Given the description of an element on the screen output the (x, y) to click on. 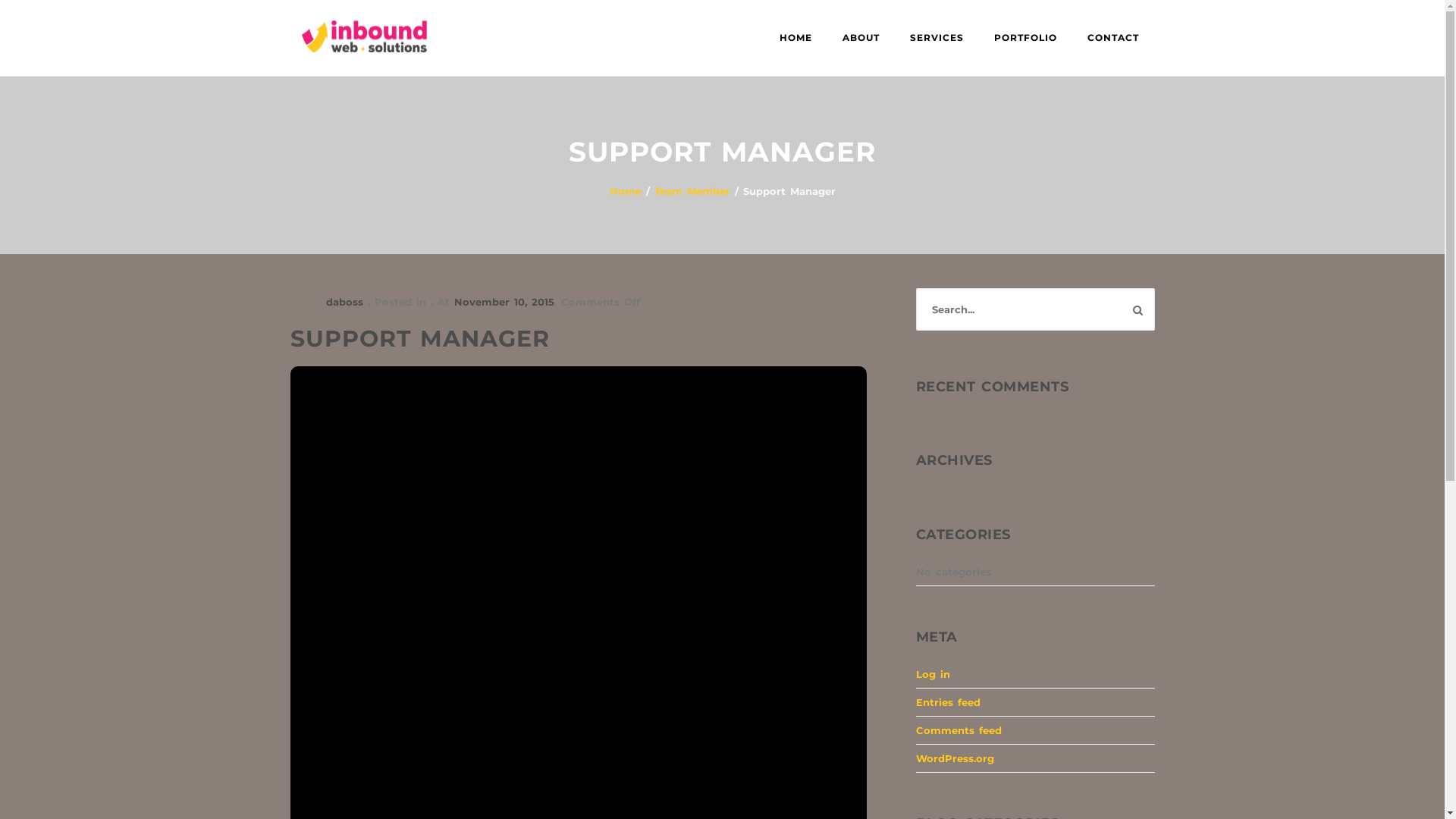
PORTFOLIO Element type: text (1025, 37)
WordPress.org Element type: text (955, 758)
Comments feed Element type: text (958, 730)
Entries feed Element type: text (948, 702)
CONTACT Element type: text (1113, 37)
Log in Element type: text (933, 674)
Home Element type: text (625, 191)
Inbound Web Solutions Element type: hover (363, 62)
HOME Element type: text (795, 37)
SERVICES Element type: text (936, 37)
ABOUT Element type: text (860, 37)
November 10, 2015 Element type: text (503, 301)
Search Element type: text (1137, 309)
daboss Element type: text (328, 301)
Team Member Element type: text (691, 191)
